Given the description of an element on the screen output the (x, y) to click on. 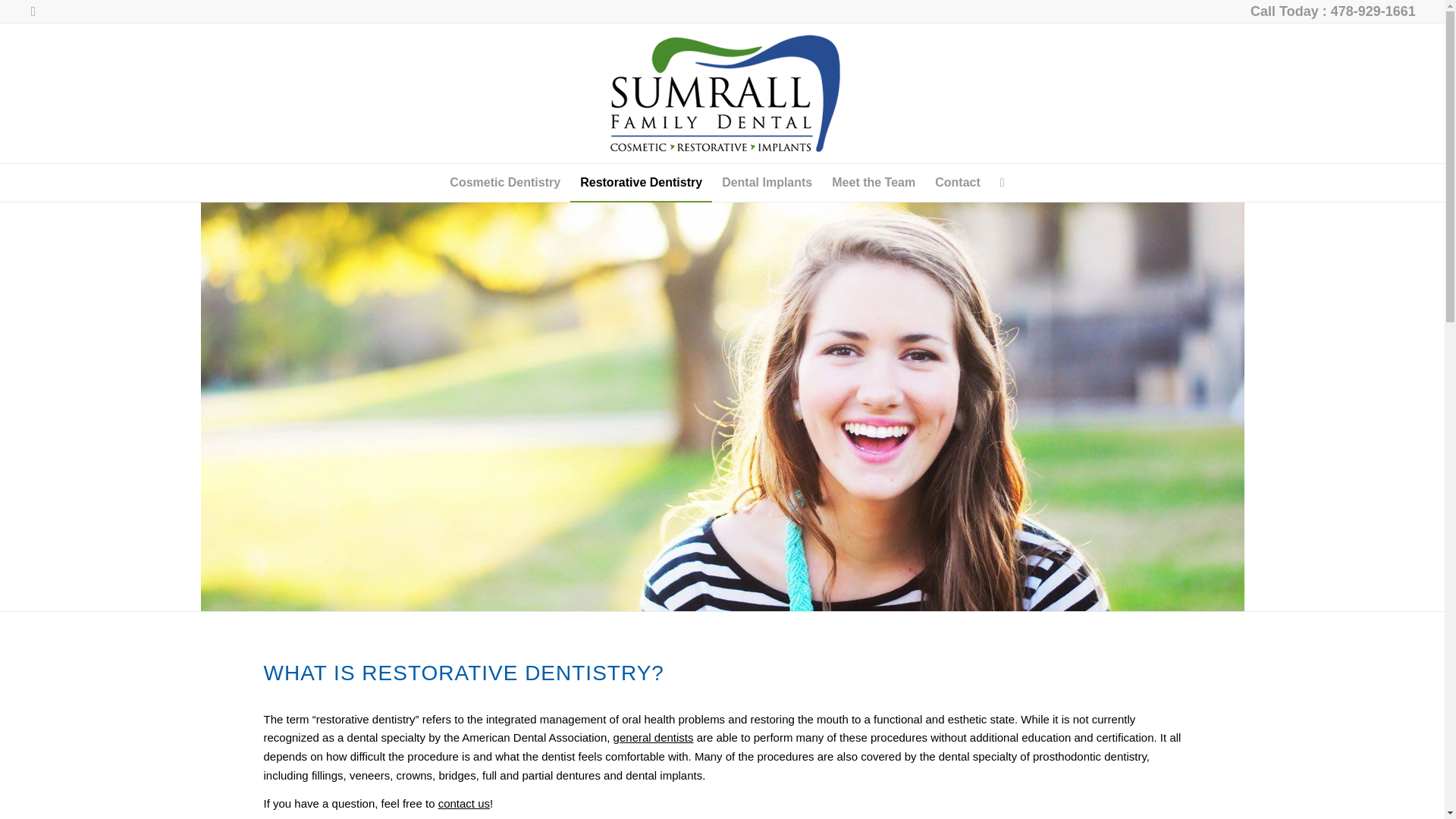
toplogo (721, 94)
Meet the Team (873, 182)
contact us (463, 802)
general dentists (653, 737)
478-929-1661 (1372, 11)
Restorative Dentistry (640, 182)
Dental Implants (766, 182)
toplogo (721, 93)
Facebook (33, 11)
Contact (957, 182)
Cosmetic Dentistry (504, 182)
